Given the description of an element on the screen output the (x, y) to click on. 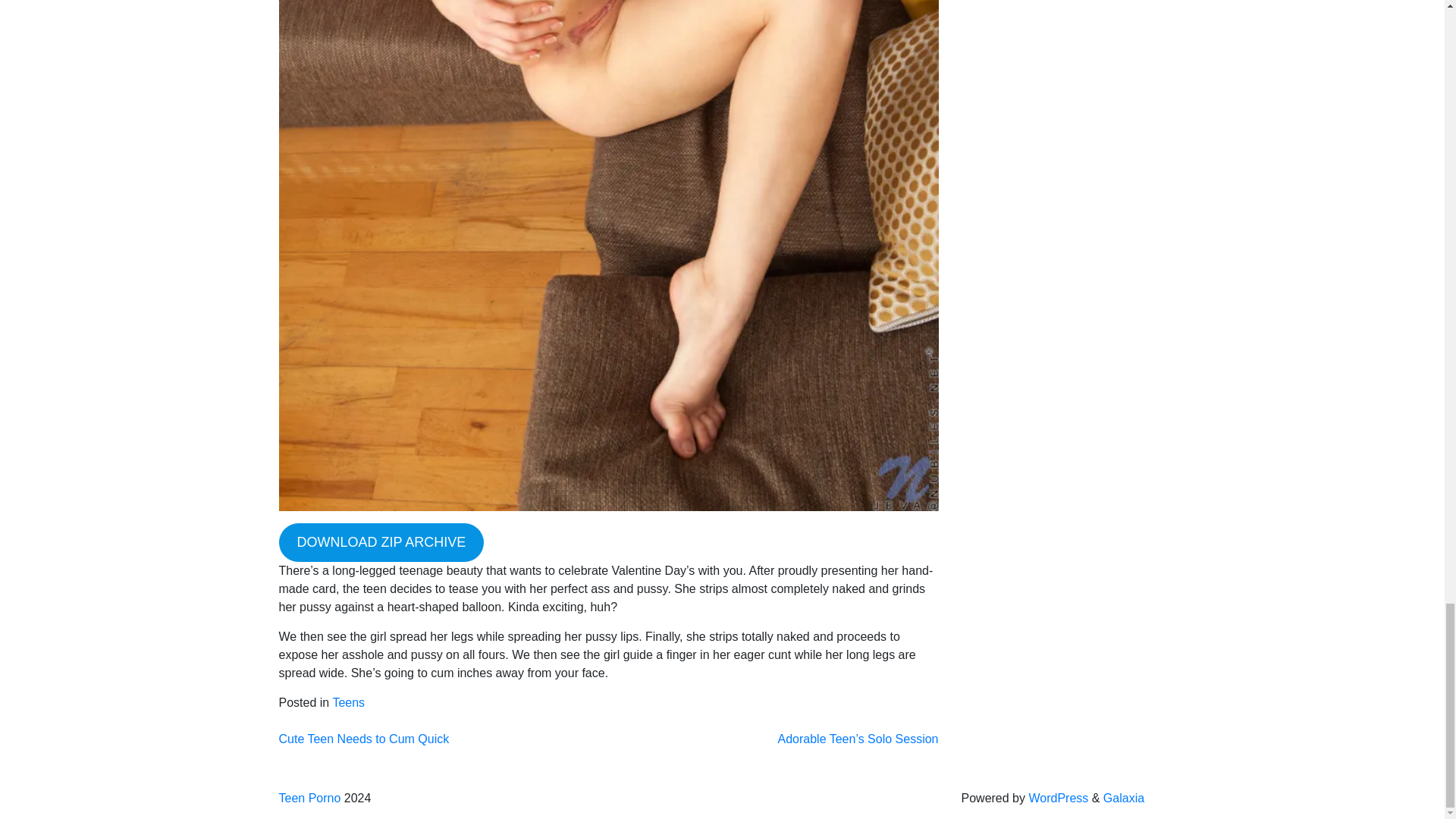
Teen Porno (309, 797)
Galaxia (1123, 797)
WordPress (1057, 797)
Teens (348, 702)
WordPress CMS (1057, 797)
Galaxia WordPress theme (1123, 797)
DOWNLOAD ZIP ARCHIVE (381, 542)
Cute Teen Needs to Cum Quick (364, 738)
